Given the description of an element on the screen output the (x, y) to click on. 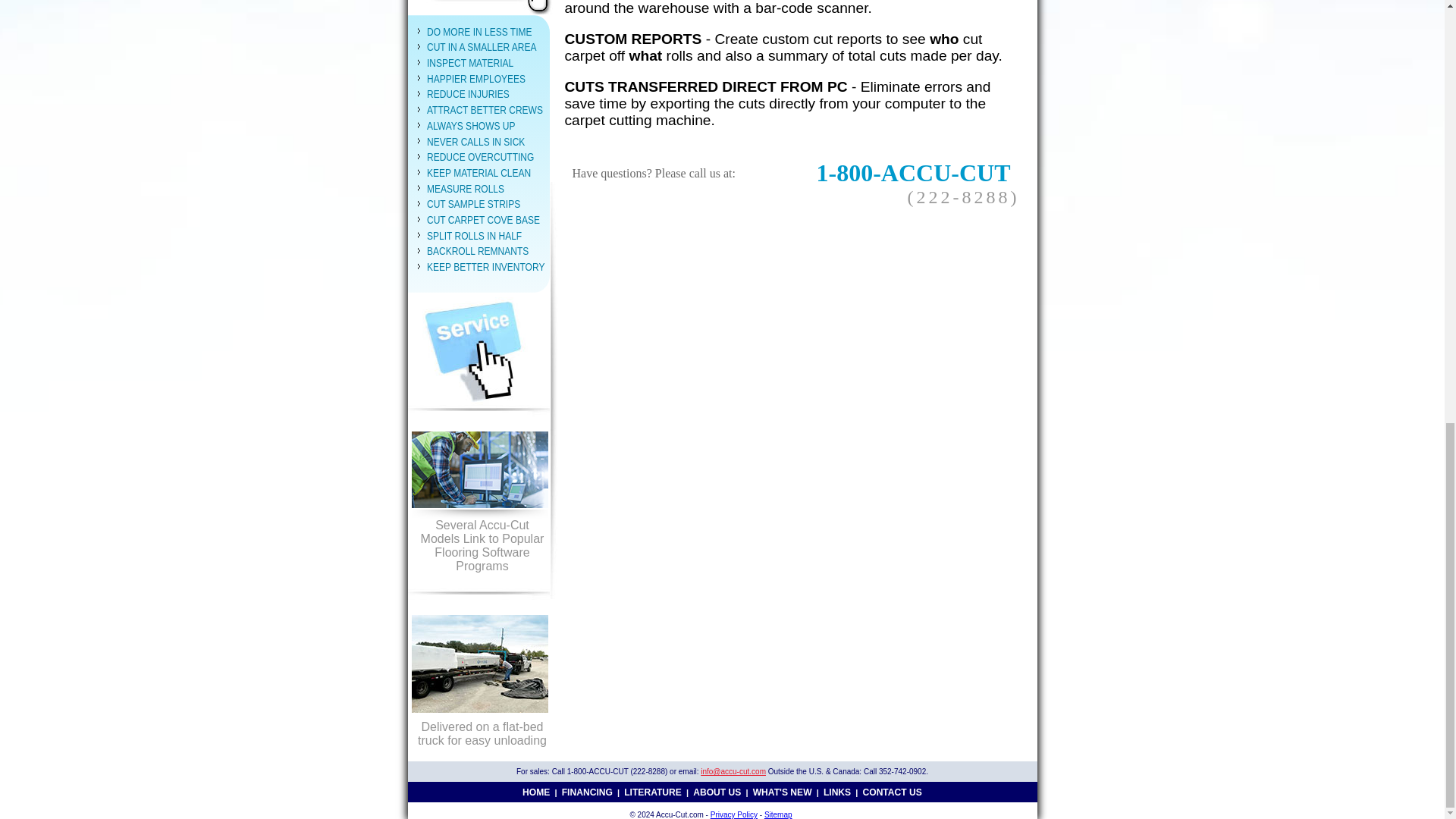
Don loading J-5 for delivery (478, 673)
LINKS (837, 791)
LITERATURE (652, 791)
FINANCING (587, 791)
WHAT'S NEW (782, 791)
Accu-Cut Carpet Cutting Machine Testimonials (486, 7)
HOME (536, 791)
FINANCING (587, 791)
Artificial Turf Dealers Click Here (485, 7)
CONTACT US (891, 791)
HOME (536, 791)
Delivered on a flat-bed truck for easy unloading (478, 673)
Learn more about the Accu-Cut Service Department (478, 350)
ABOUT US (717, 791)
